Given the description of an element on the screen output the (x, y) to click on. 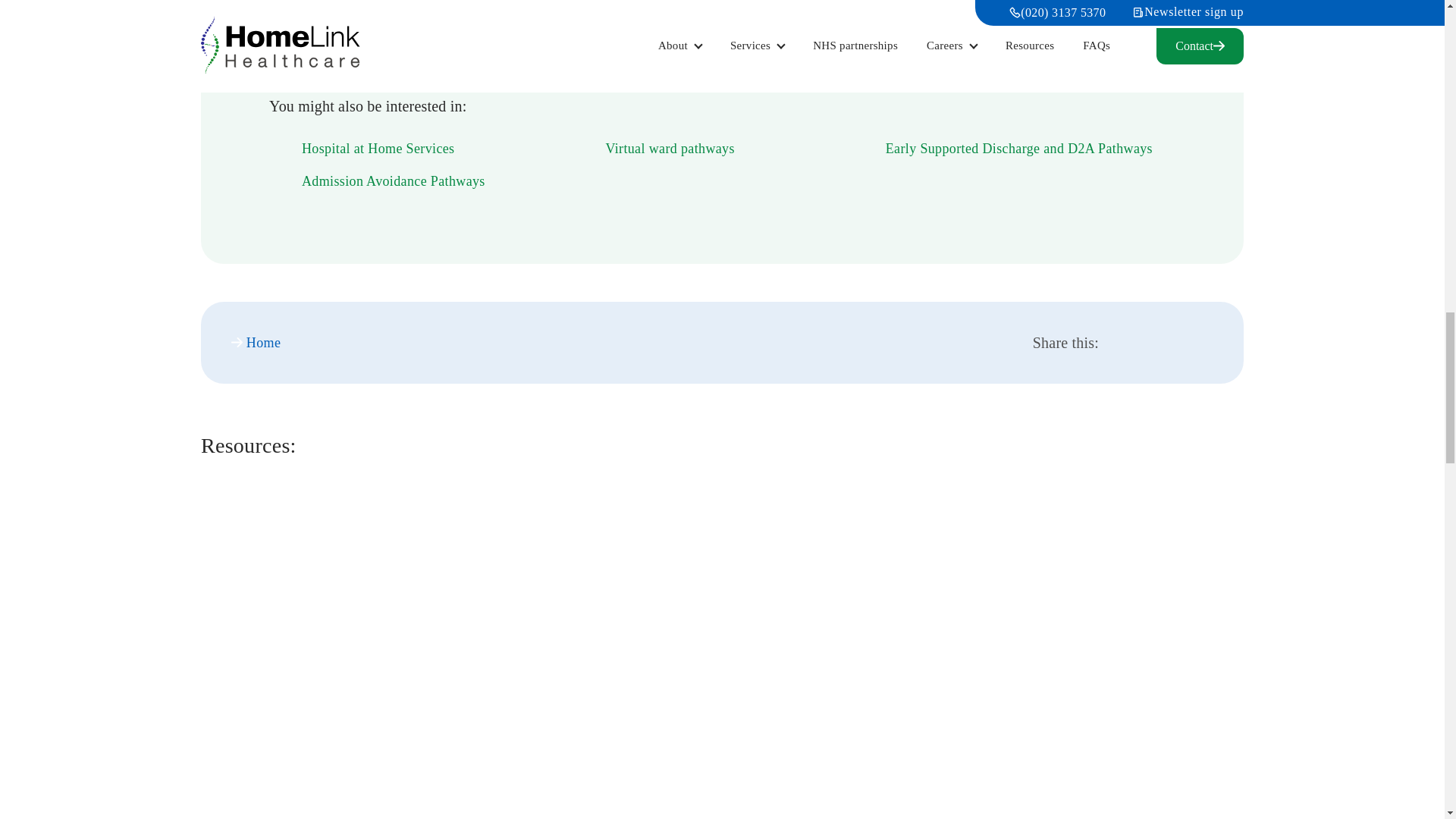
Hospital at Home Services (361, 148)
Virtual ward pathways (652, 148)
Admission Avoidance Pathways (376, 181)
Home (256, 342)
Early Supported Discharge and D2A Pathways (1003, 148)
